Given the description of an element on the screen output the (x, y) to click on. 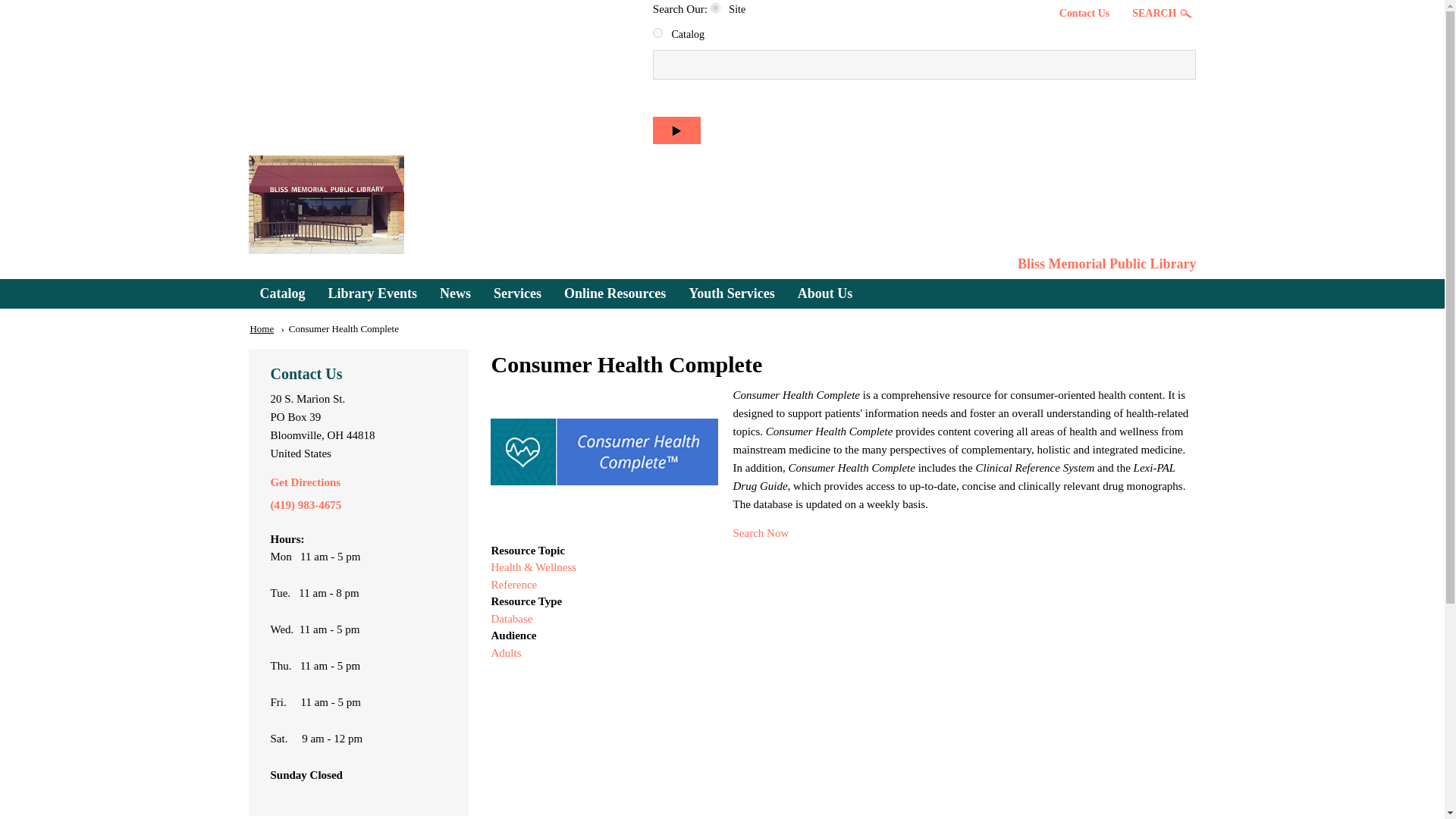
Catalog (282, 293)
Home (1106, 263)
Services (517, 293)
Contact Us (1084, 13)
catalog-search (657, 32)
News (454, 293)
librarysite-search (715, 8)
Bliss Memorial Public Library (1106, 263)
Library Events (373, 293)
Search (676, 130)
